Given the description of an element on the screen output the (x, y) to click on. 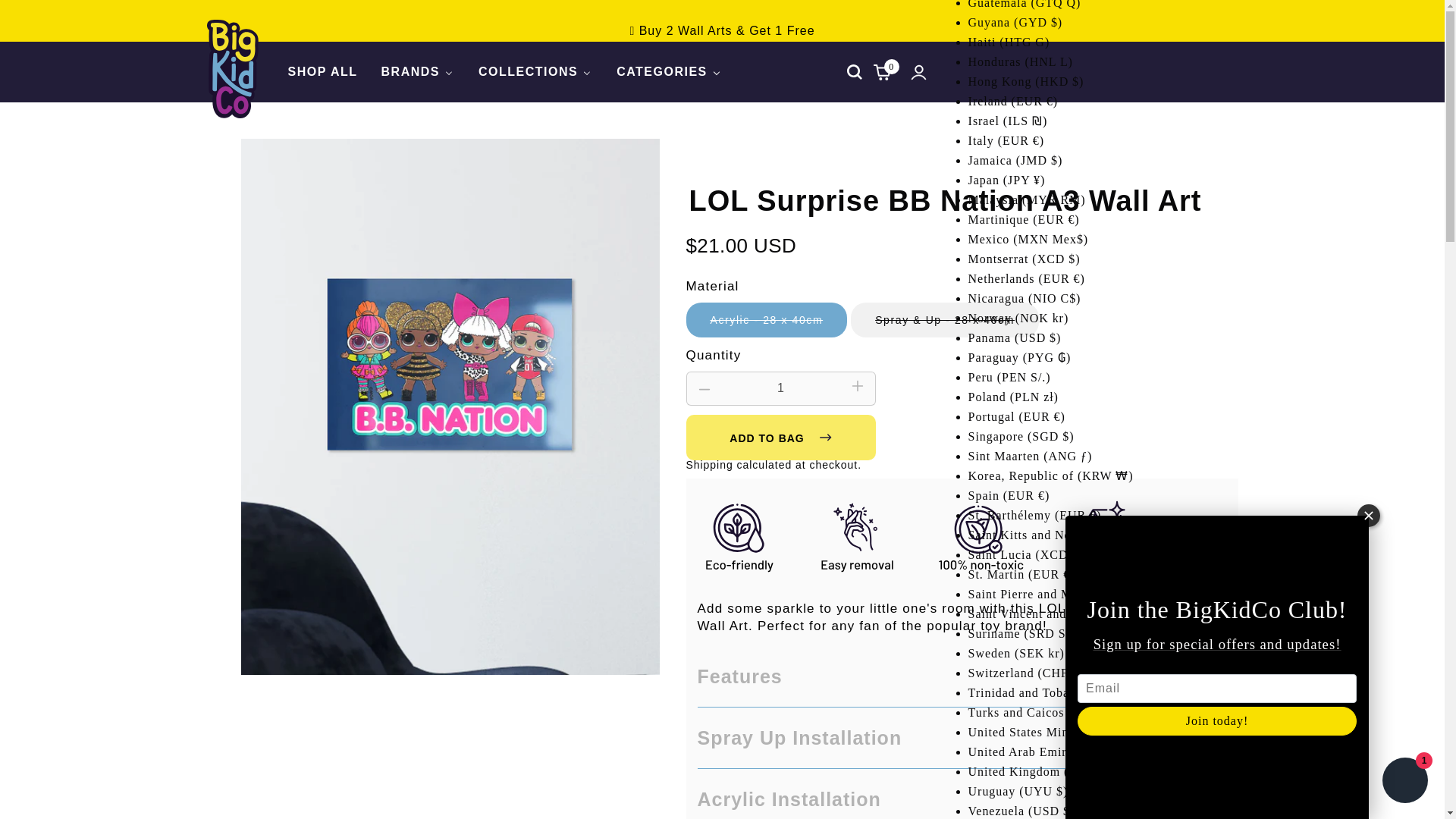
SHOP ALL (322, 71)
COLLECTIONS (535, 71)
1 (780, 388)
BRANDS (417, 71)
Shopify online store chat (1404, 781)
